Given the description of an element on the screen output the (x, y) to click on. 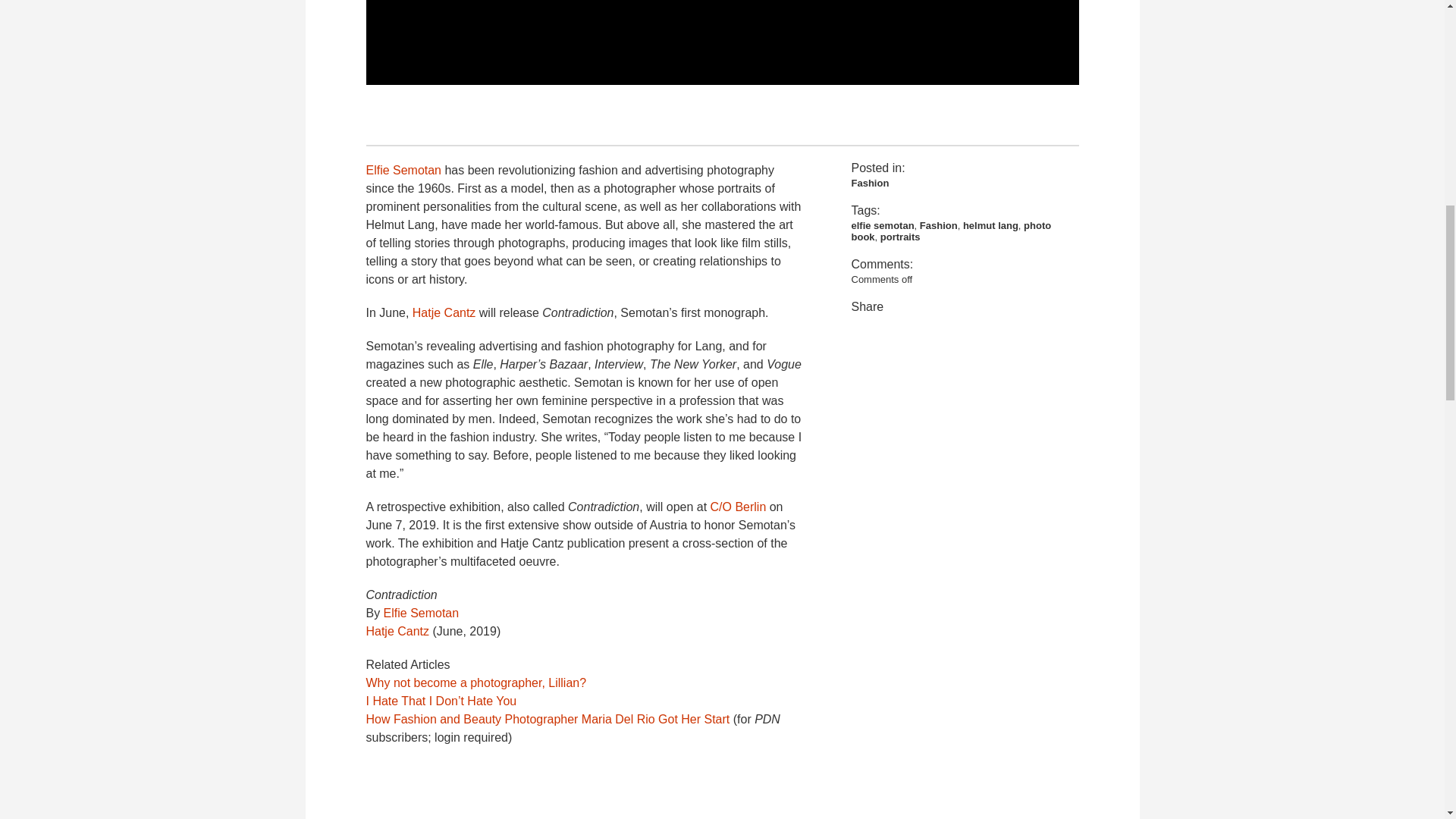
View all posts in Fashion (869, 183)
